Given the description of an element on the screen output the (x, y) to click on. 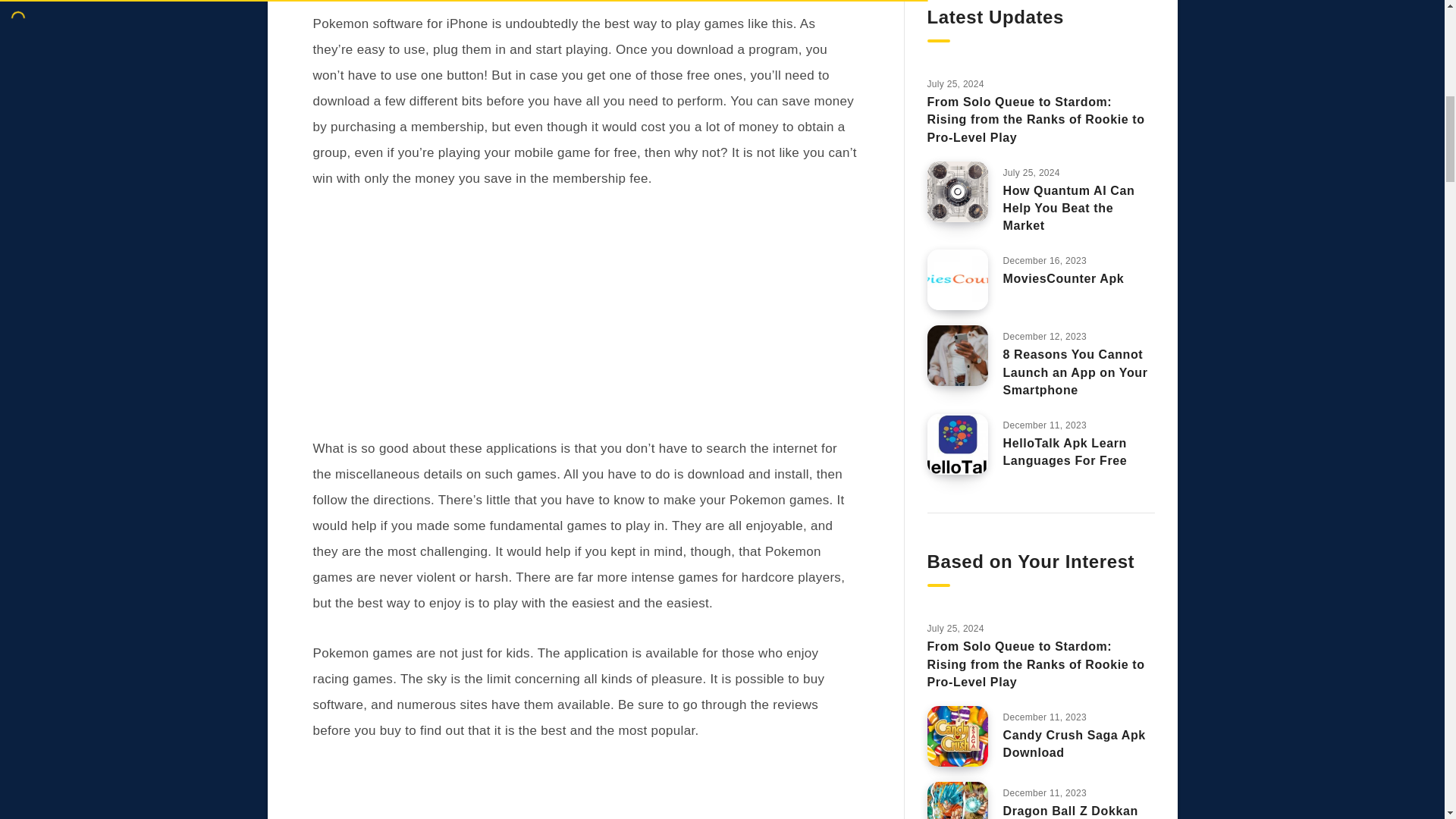
Advertisement (585, 318)
Advertisement (585, 790)
